Given the description of an element on the screen output the (x, y) to click on. 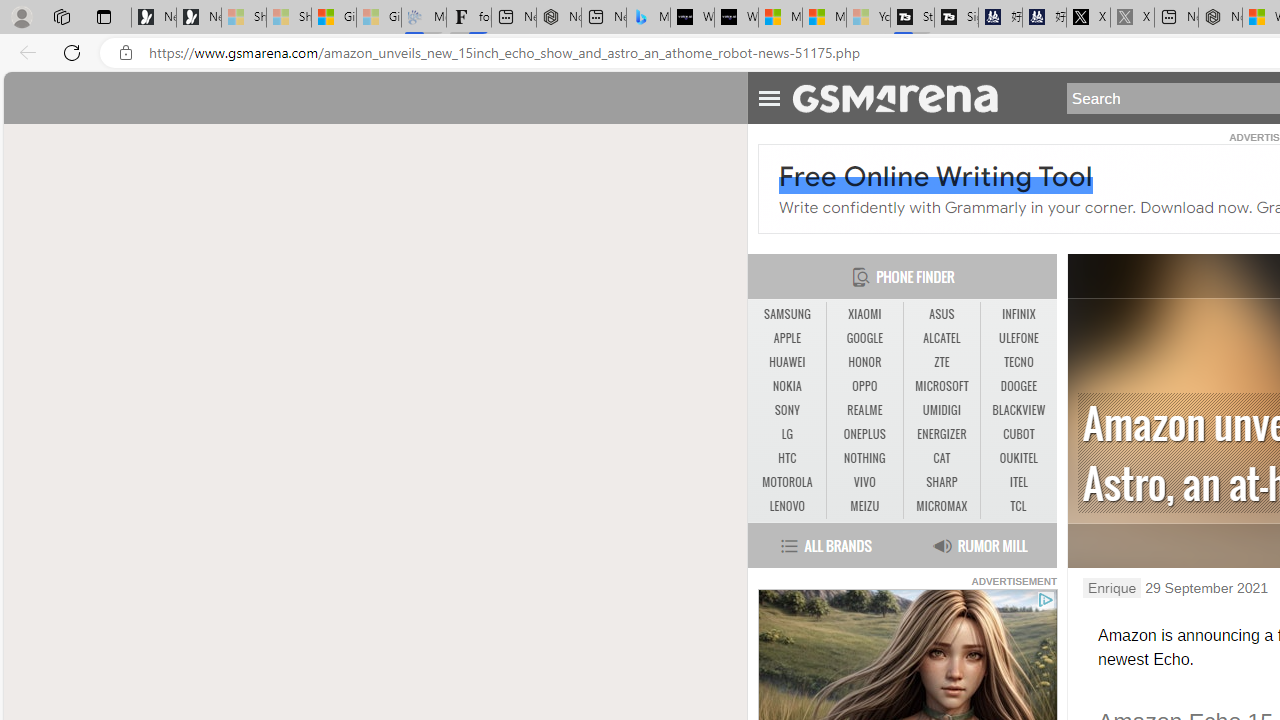
CAT (941, 458)
DOOGEE (1018, 386)
MOTOROLA (786, 483)
Enrique (1111, 588)
MICROMAX (941, 506)
DOOGEE (1018, 385)
MEIZU (864, 506)
ZTE (941, 362)
SONY (786, 411)
MICROMAX (941, 506)
